Given the description of an element on the screen output the (x, y) to click on. 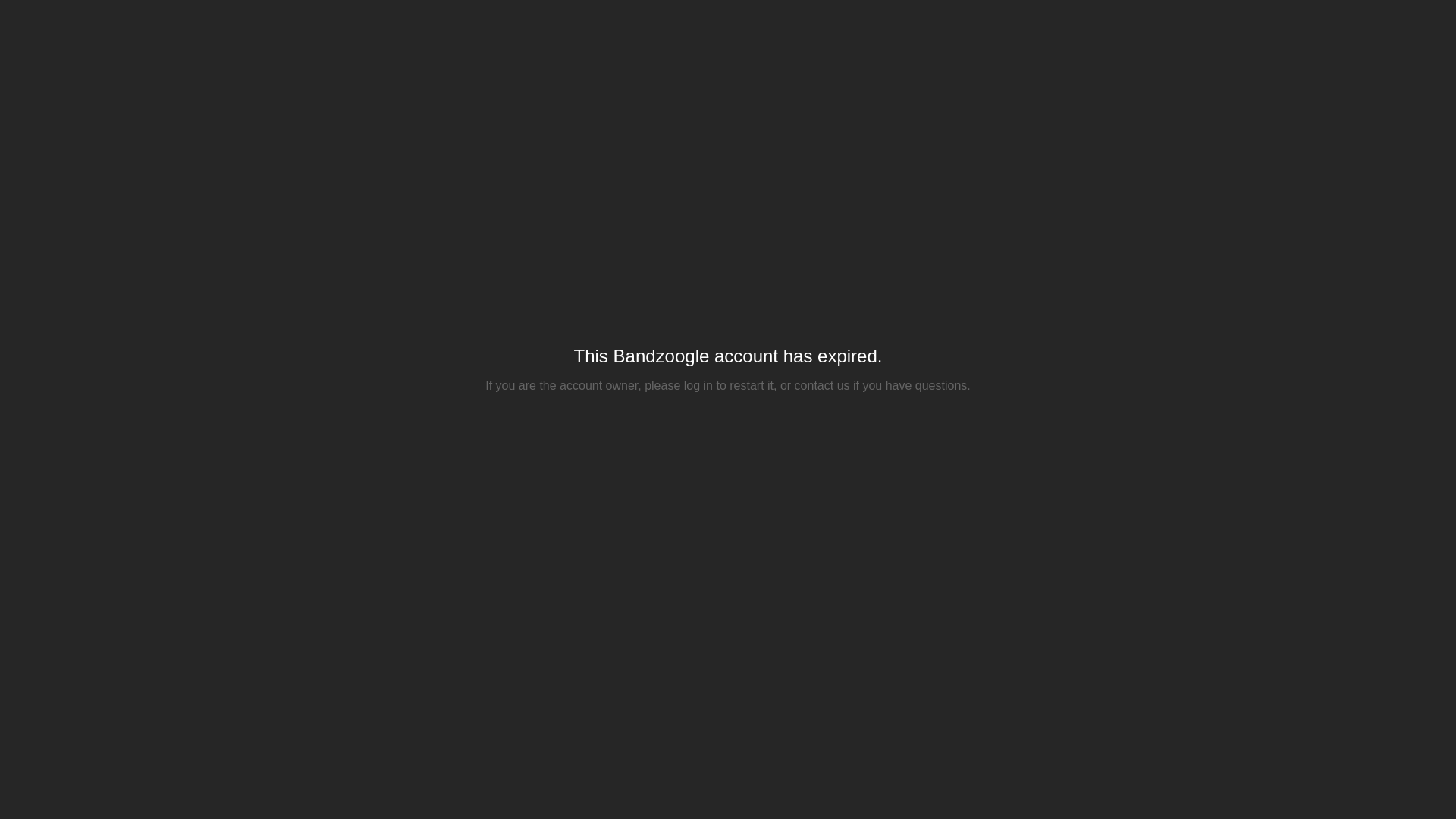
log in Element type: text (698, 385)
contact us Element type: text (822, 385)
